Given the description of an element on the screen output the (x, y) to click on. 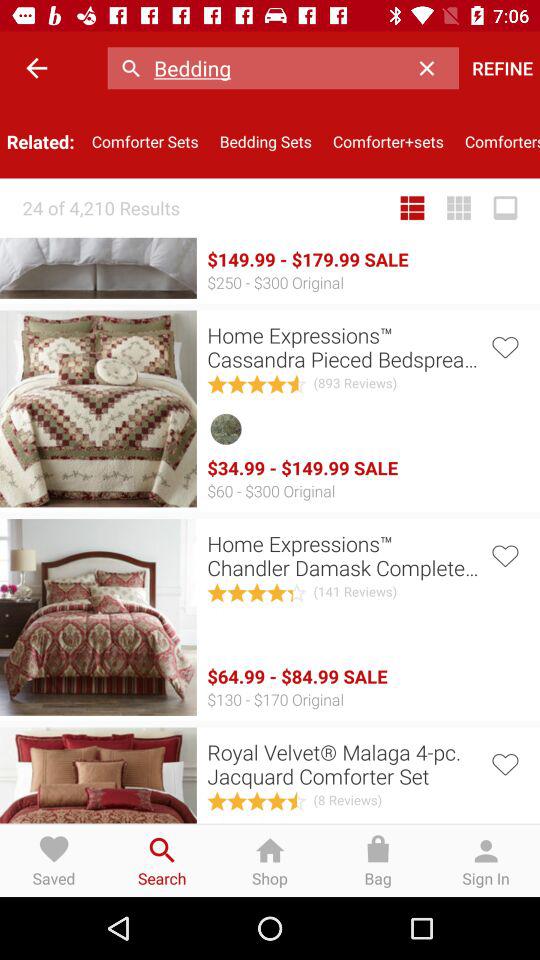
choose icon above 149 99 179 icon (265, 141)
